Given the description of an element on the screen output the (x, y) to click on. 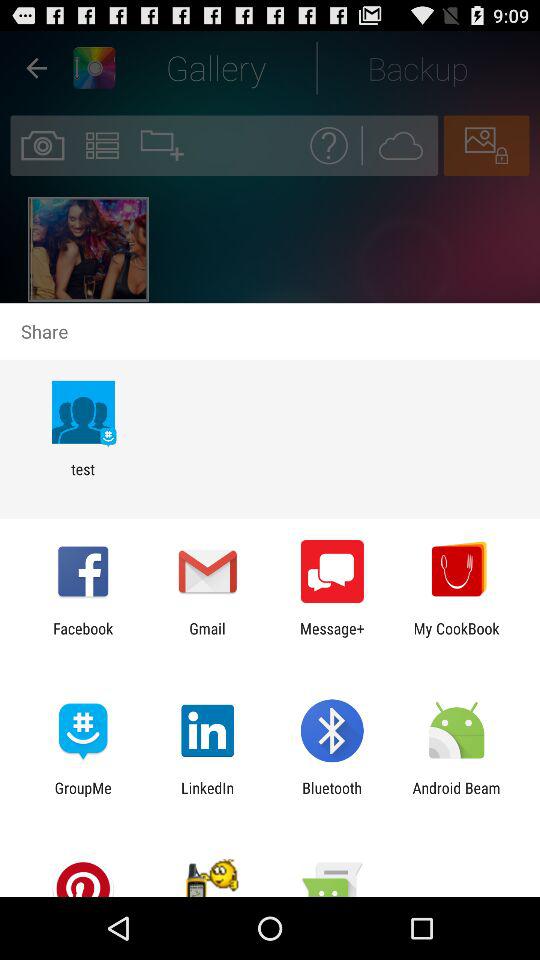
click item to the left of my cookbook icon (332, 637)
